Given the description of an element on the screen output the (x, y) to click on. 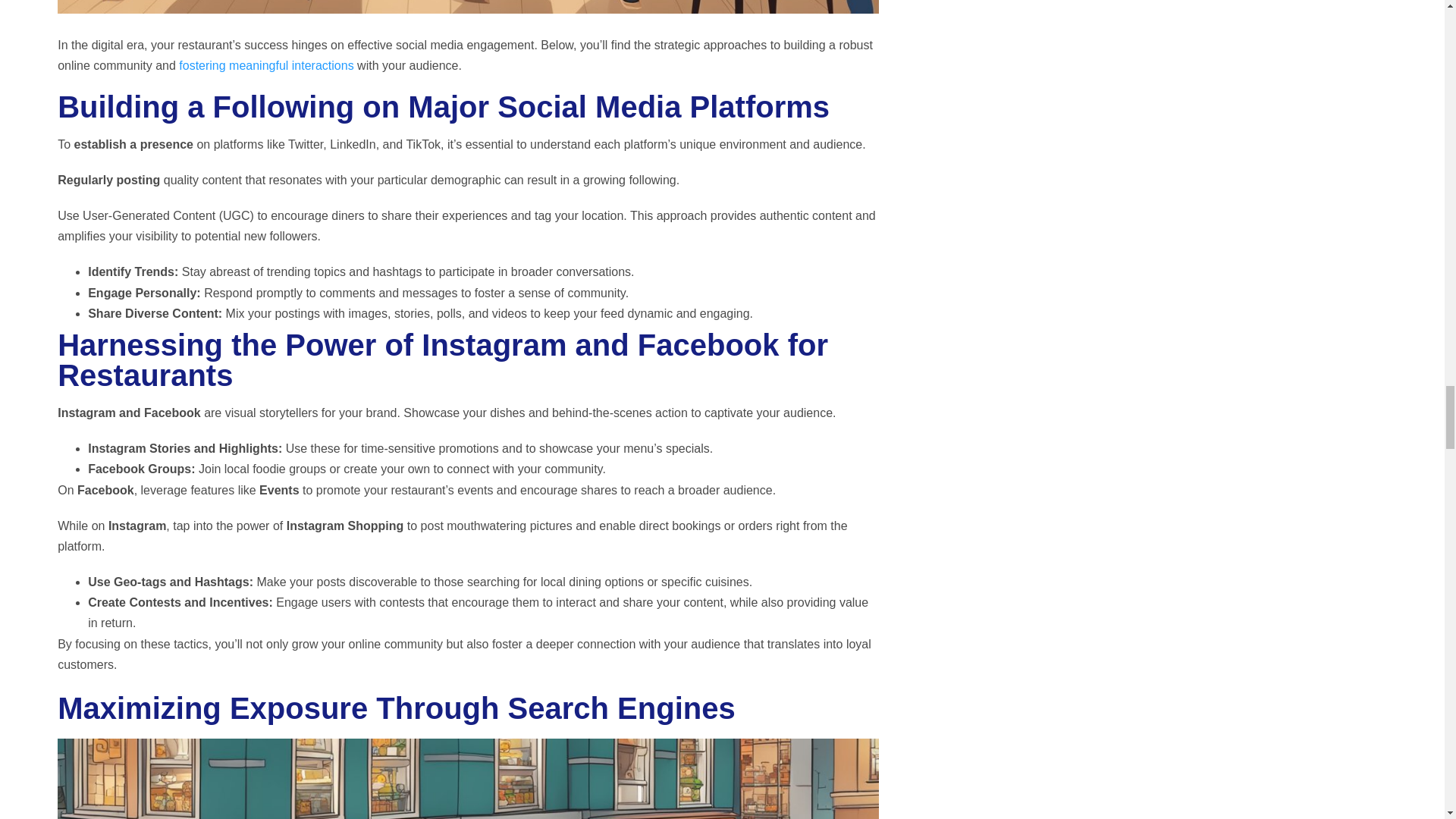
fostering meaningful interactions (266, 65)
